Given the description of an element on the screen output the (x, y) to click on. 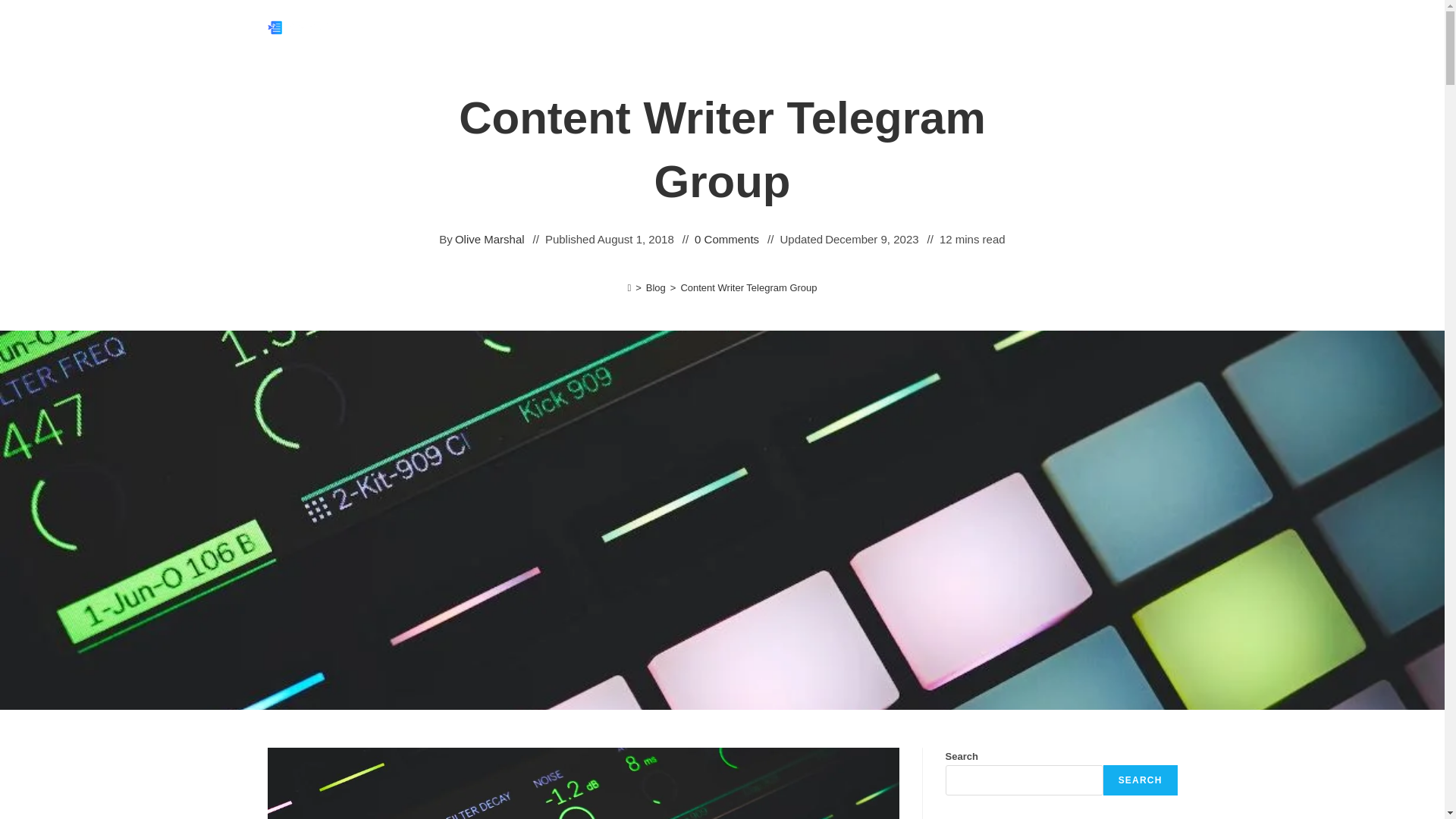
SEARCH (1140, 779)
Content Writer Telegram Group (747, 287)
Olive Marshal (489, 239)
Blog (655, 287)
0 Comments (726, 239)
